Given the description of an element on the screen output the (x, y) to click on. 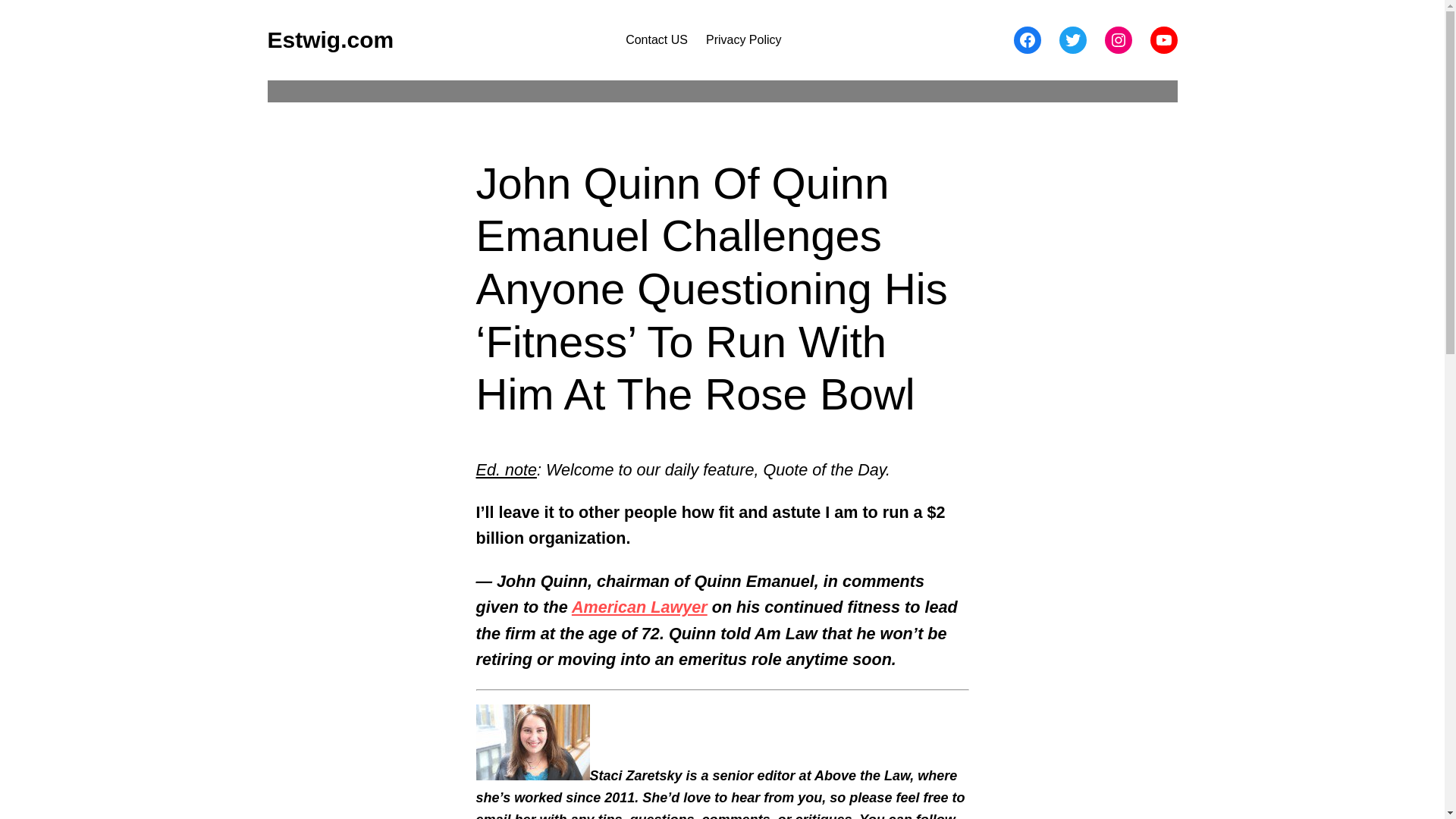
Instagram (1117, 40)
Estwig.com (329, 39)
YouTube (1163, 40)
Privacy Policy (743, 39)
Twitter (1072, 40)
Contact US (656, 39)
American Lawyer (639, 606)
Facebook (1027, 40)
